Given the description of an element on the screen output the (x, y) to click on. 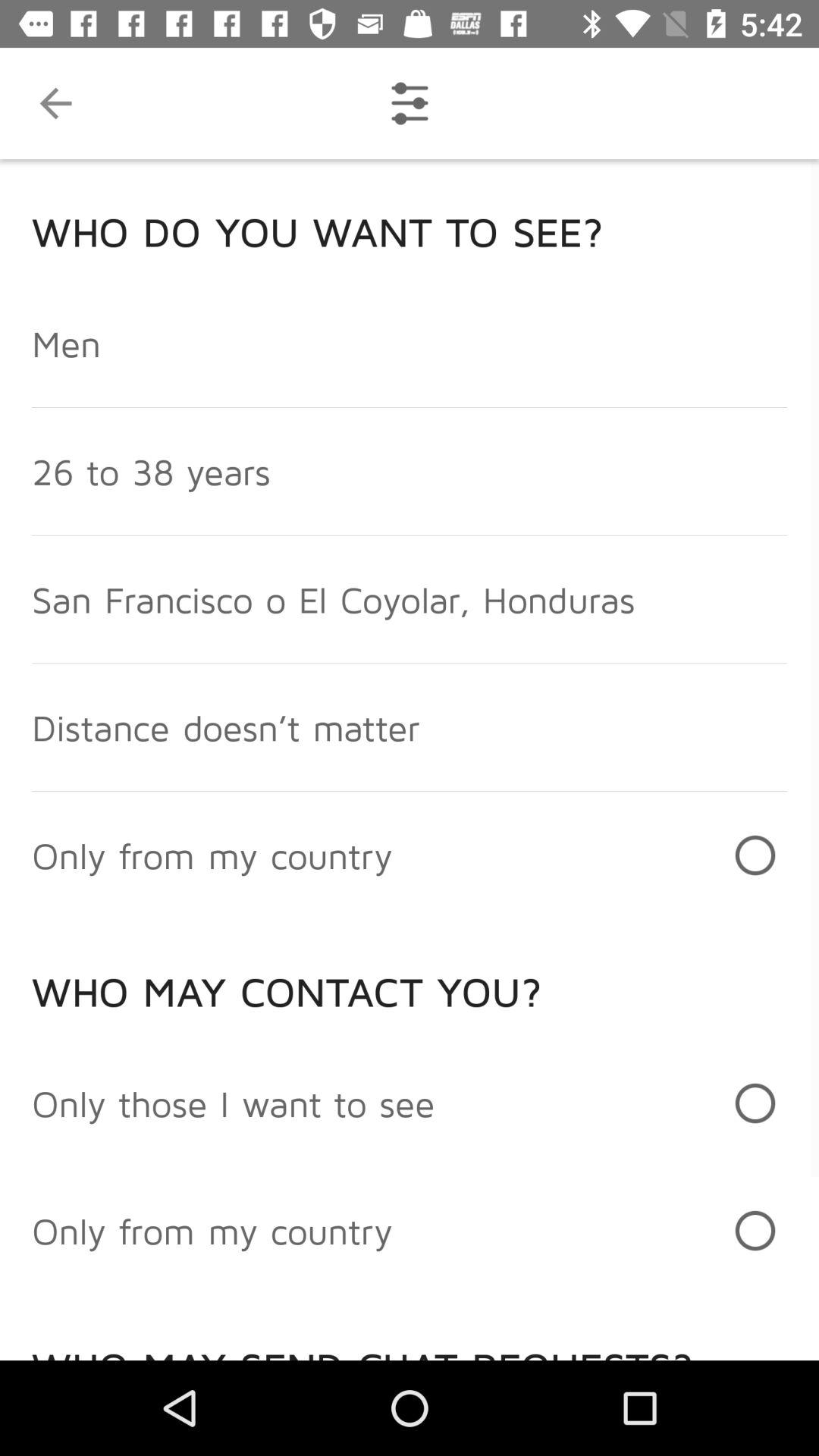
choose the item above who do you item (55, 103)
